Given the description of an element on the screen output the (x, y) to click on. 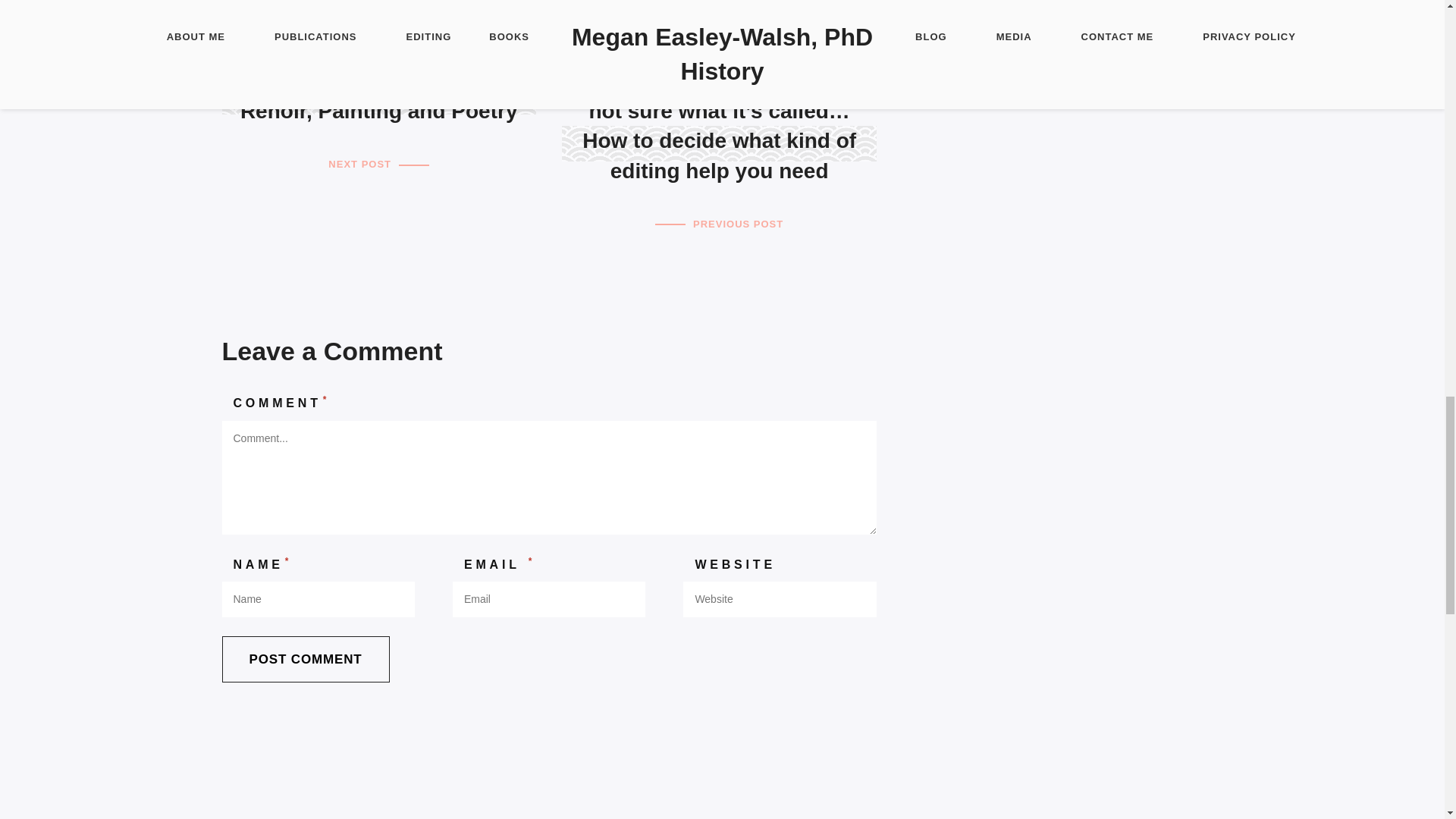
Post Comment (304, 659)
Post Comment (304, 659)
